Given the description of an element on the screen output the (x, y) to click on. 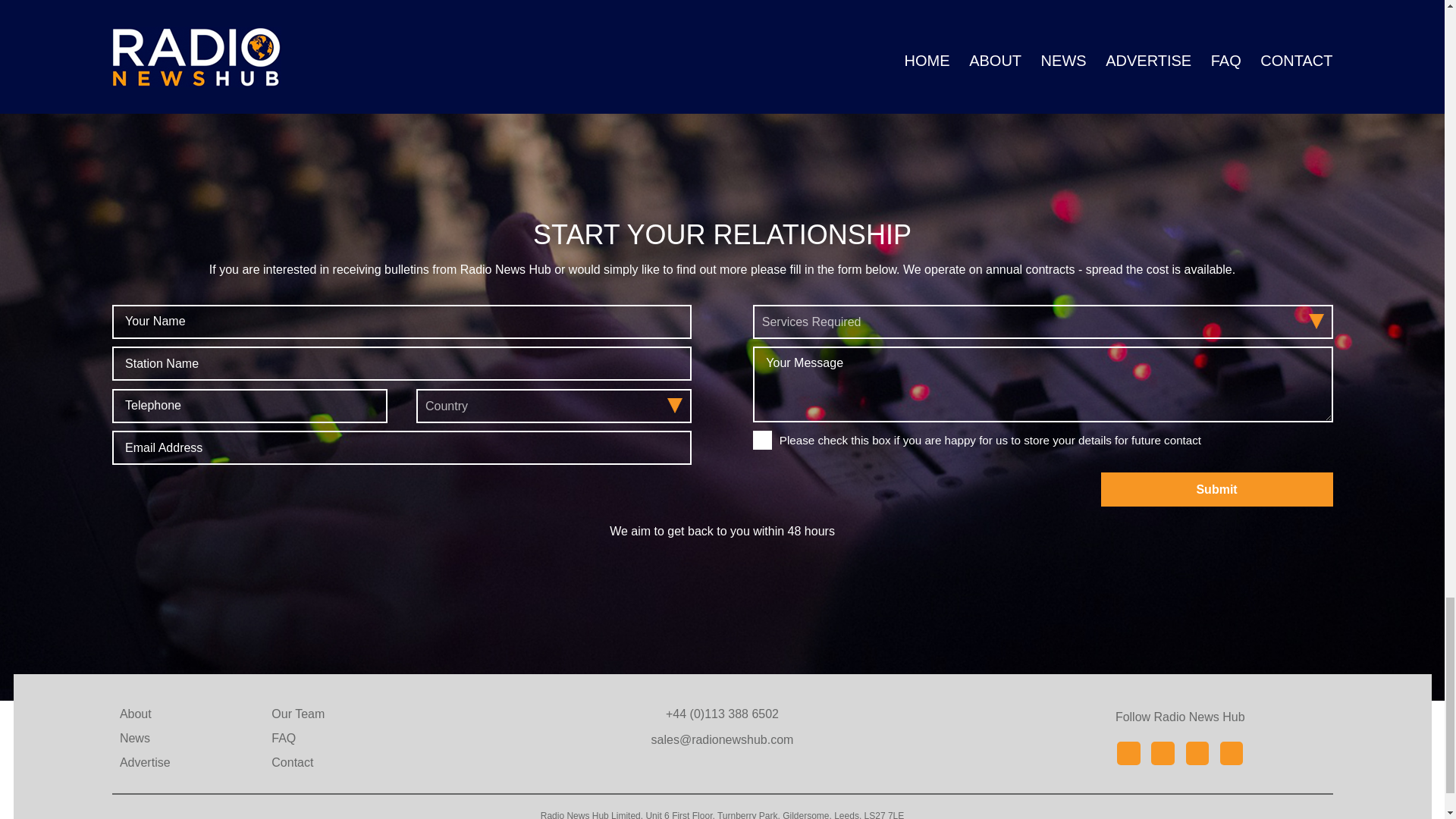
Find Us On Facebook (1128, 753)
See Us On Instagram (1231, 753)
Advertise (144, 762)
News (134, 738)
submit (1216, 489)
Our Team (297, 714)
Contact (291, 762)
Follow Us On Twitter (1197, 753)
FAQ (282, 738)
About (135, 714)
Connect On LinkedIn (1162, 753)
